Given the description of an element on the screen output the (x, y) to click on. 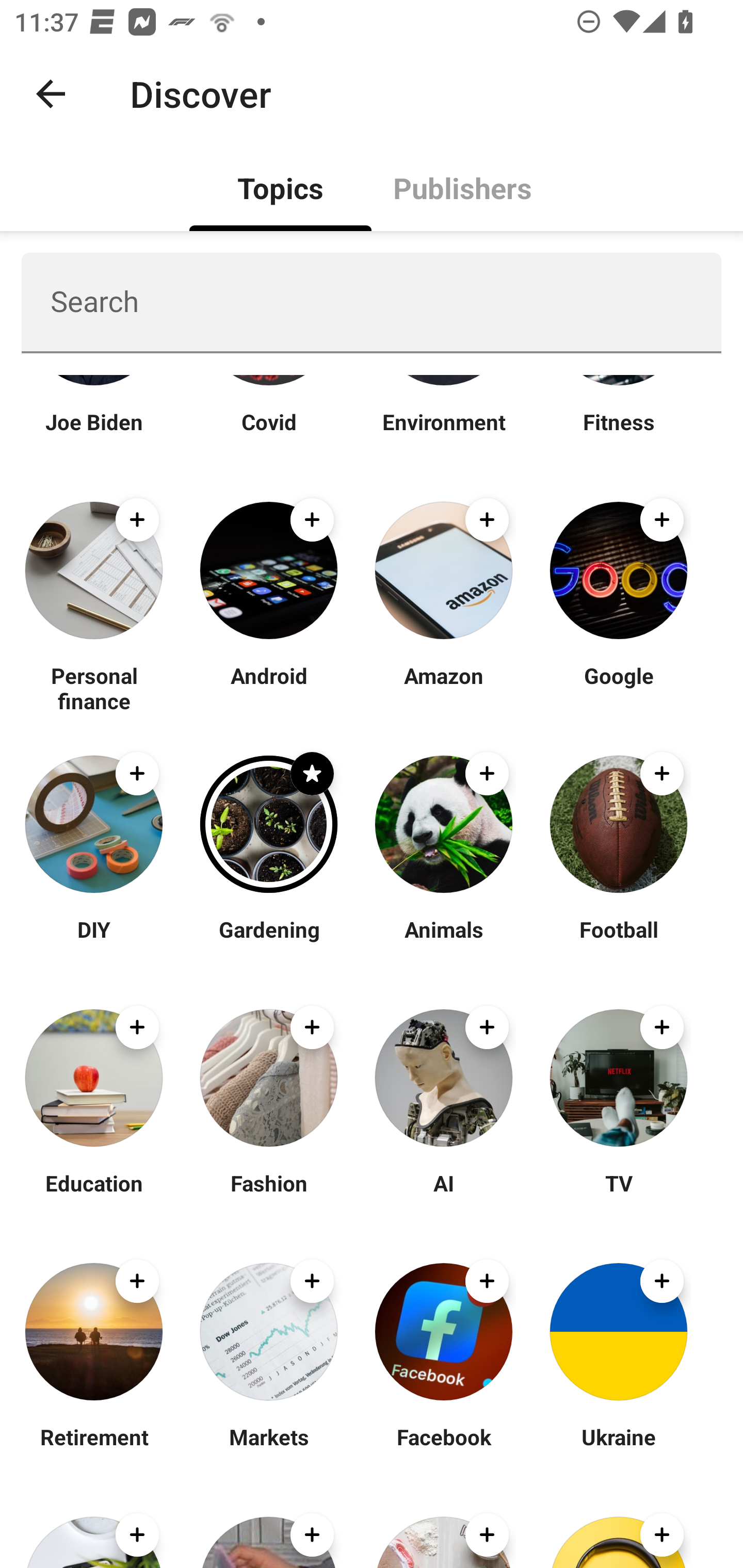
Publishers (462, 187)
Search (371, 302)
Joe Biden (93, 433)
Covid (268, 433)
Environment (443, 433)
Fitness (618, 433)
Personal finance (93, 687)
Android (268, 687)
Amazon (443, 687)
Google (618, 687)
DIY (93, 941)
Gardening (268, 941)
Animals (443, 941)
Football (618, 941)
Education (93, 1195)
Fashion (268, 1195)
AI (443, 1195)
TV (618, 1195)
Retirement (93, 1449)
Markets (268, 1449)
Facebook (443, 1449)
Ukraine (618, 1449)
